Given the description of an element on the screen output the (x, y) to click on. 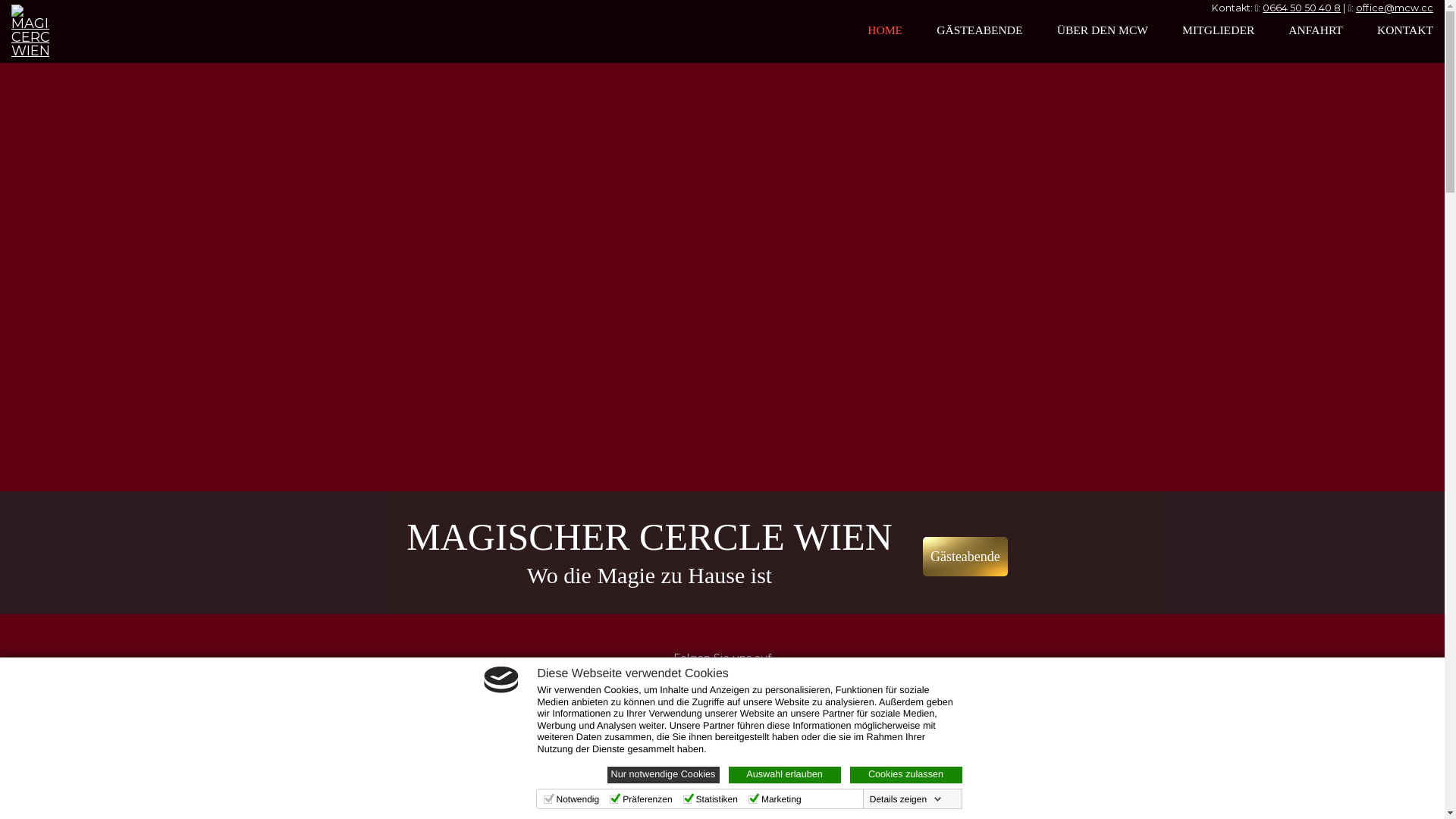
0664 50 50 40 8 Element type: text (1301, 7)
Details zeigen Element type: text (905, 799)
Cookies zulassen Element type: text (905, 774)
HOME Element type: text (884, 30)
KONTAKT Element type: text (1405, 30)
MITGLIEDER Element type: text (1218, 30)
Nur notwendige Cookies Element type: text (662, 774)
Auswahl erlauben Element type: text (784, 774)
office@mcw.cc Element type: text (1394, 7)
ANFAHRT Element type: text (1315, 30)
